Given the description of an element on the screen output the (x, y) to click on. 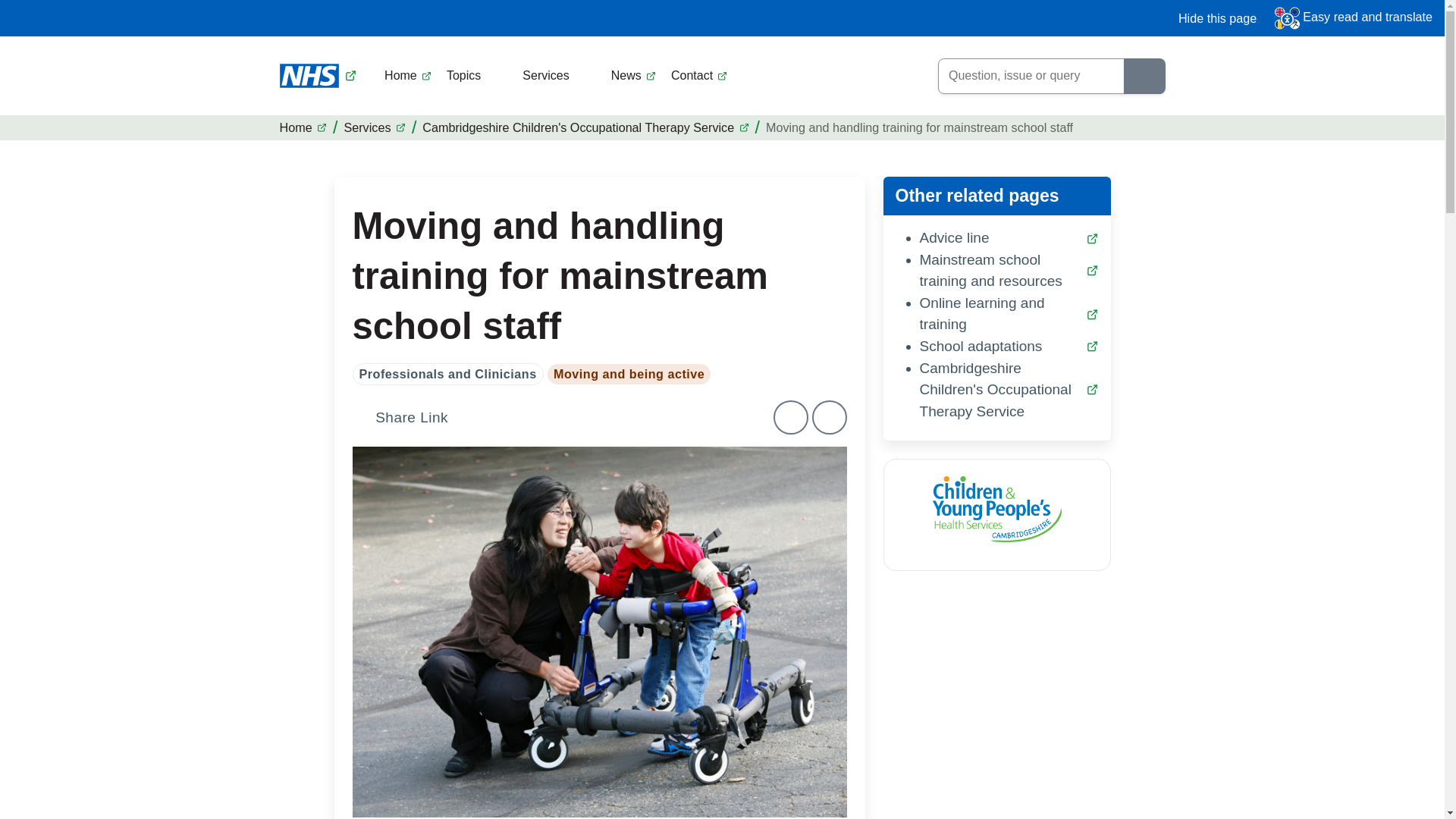
Visit homepage (317, 75)
Print this page (790, 417)
Services (554, 75)
Easy read and translate (1353, 18)
Download this page as a PDF (829, 417)
Activate ReciteMe accessibility assistance (1353, 18)
Hide this page (1208, 18)
Search (1145, 76)
